Given the description of an element on the screen output the (x, y) to click on. 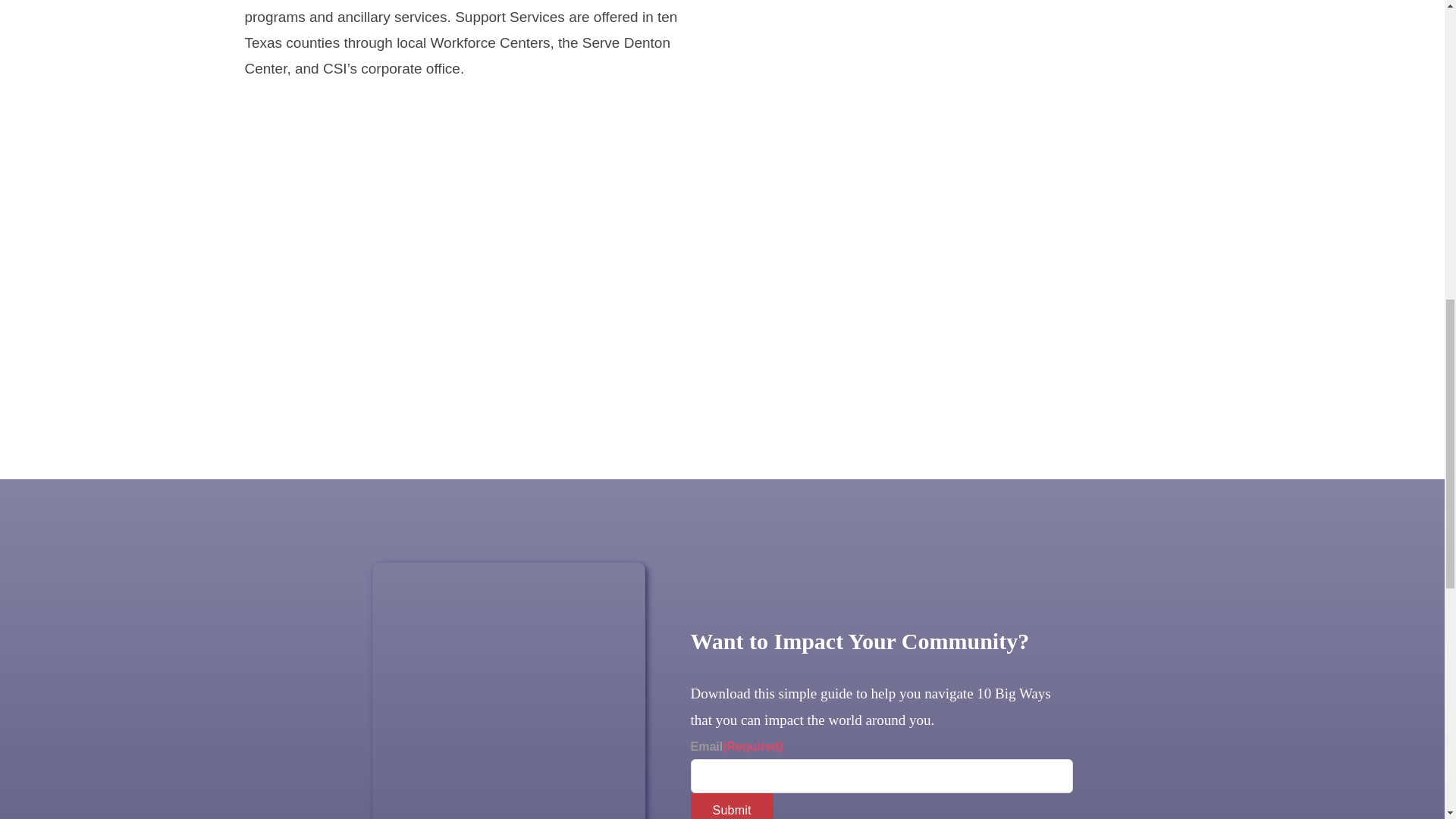
Submit (731, 806)
vision (970, 50)
Submit (731, 806)
10-big-ways (508, 690)
